Given the description of an element on the screen output the (x, y) to click on. 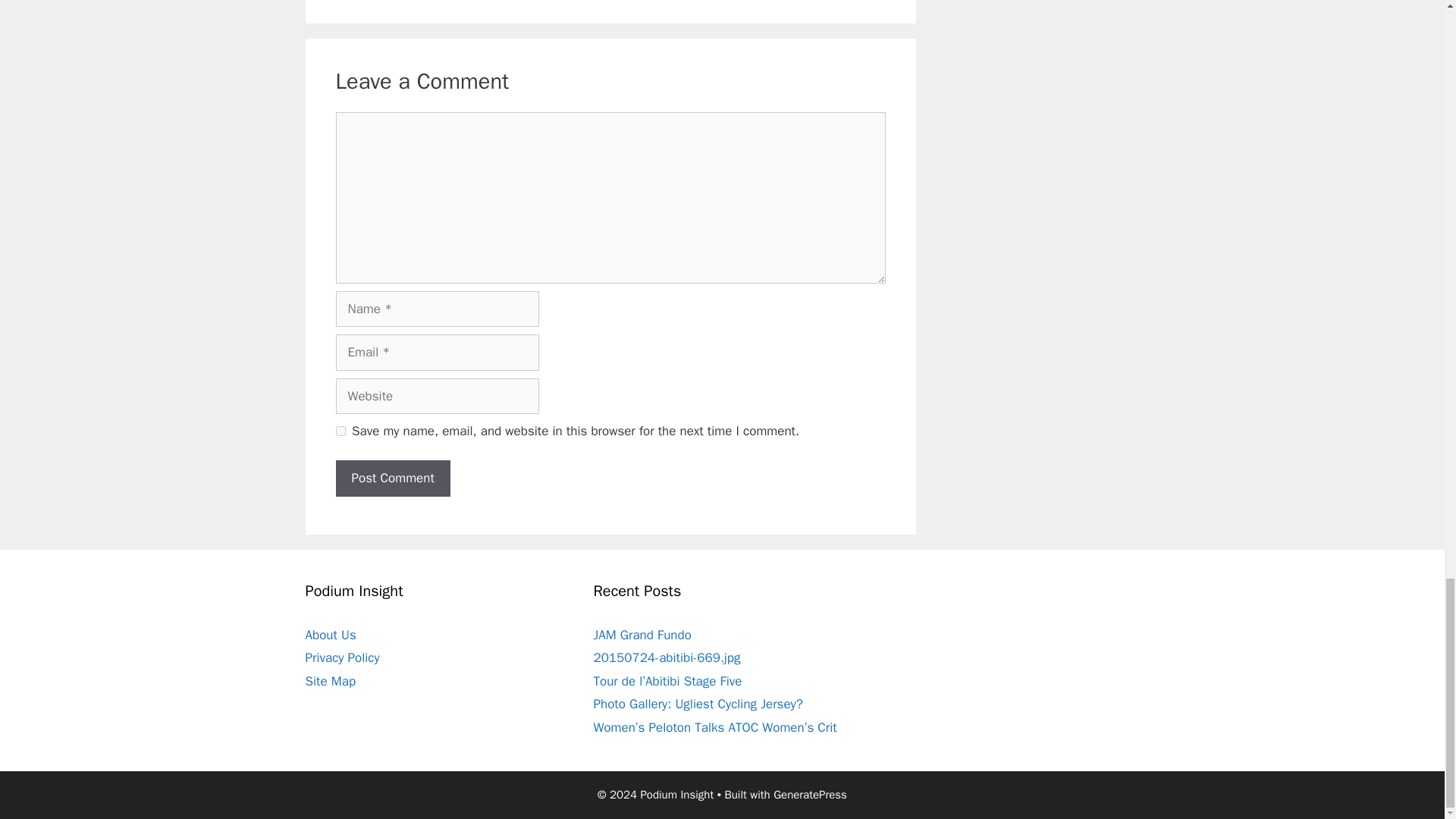
20150724-abitibi-669.jpg (665, 657)
Post Comment (391, 478)
Post Comment (391, 478)
Privacy Policy (341, 657)
About Us (329, 634)
yes (339, 430)
Site Map (329, 680)
JAM Grand Fundo (641, 634)
